Given the description of an element on the screen output the (x, y) to click on. 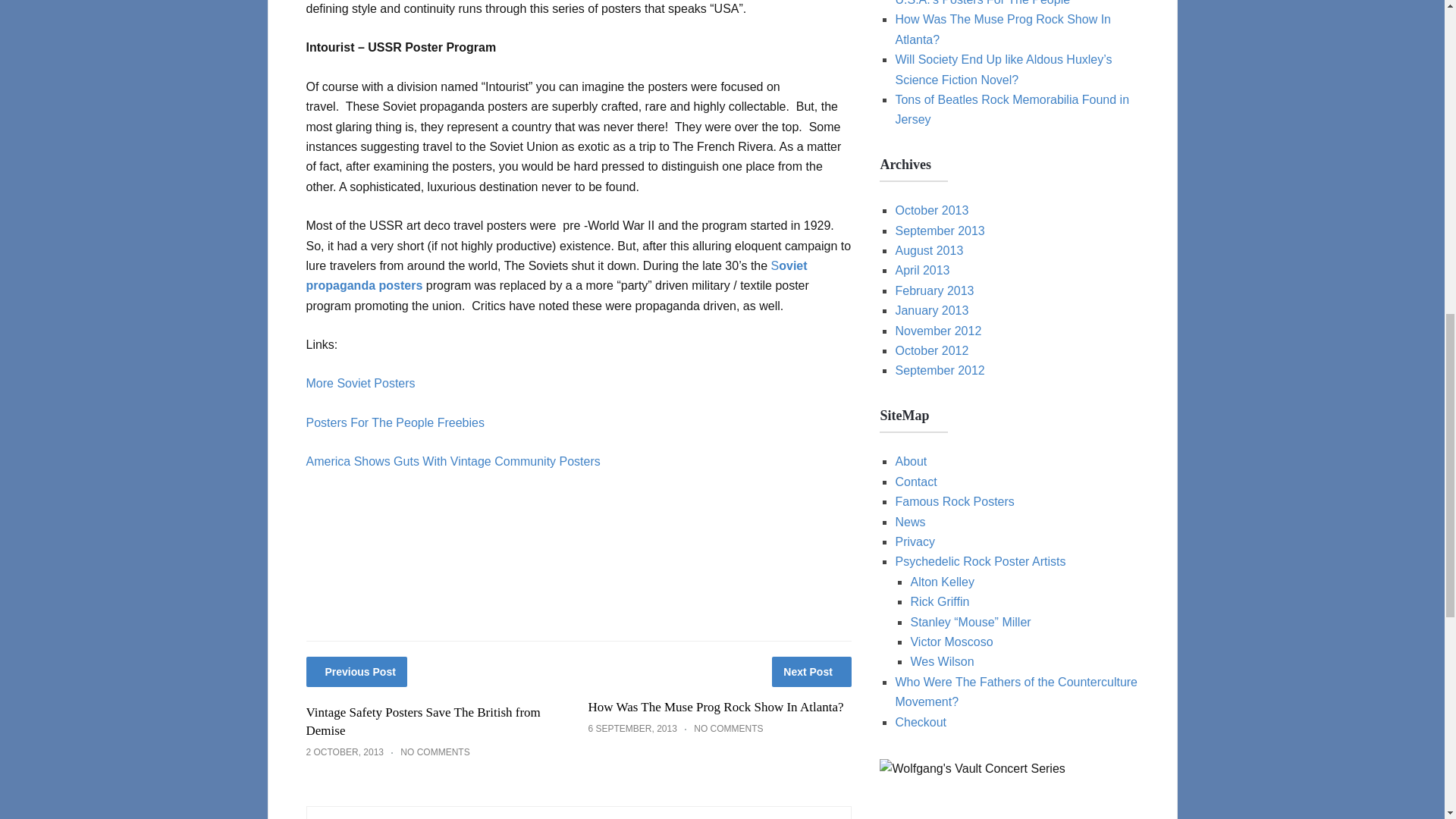
oviet propaganda posters (556, 275)
America Shows Guts With Vintage Community Posters (452, 461)
Vintage Safety Posters Save The British from Demise (422, 721)
Previous Post (356, 671)
NO COMMENTS (434, 751)
NO COMMENTS (728, 728)
More Soviet Posters (359, 382)
How Was The Muse Prog Rock Show In Atlanta? (715, 707)
Next Post (811, 671)
Posters For The People Freebies (394, 422)
